Given the description of an element on the screen output the (x, y) to click on. 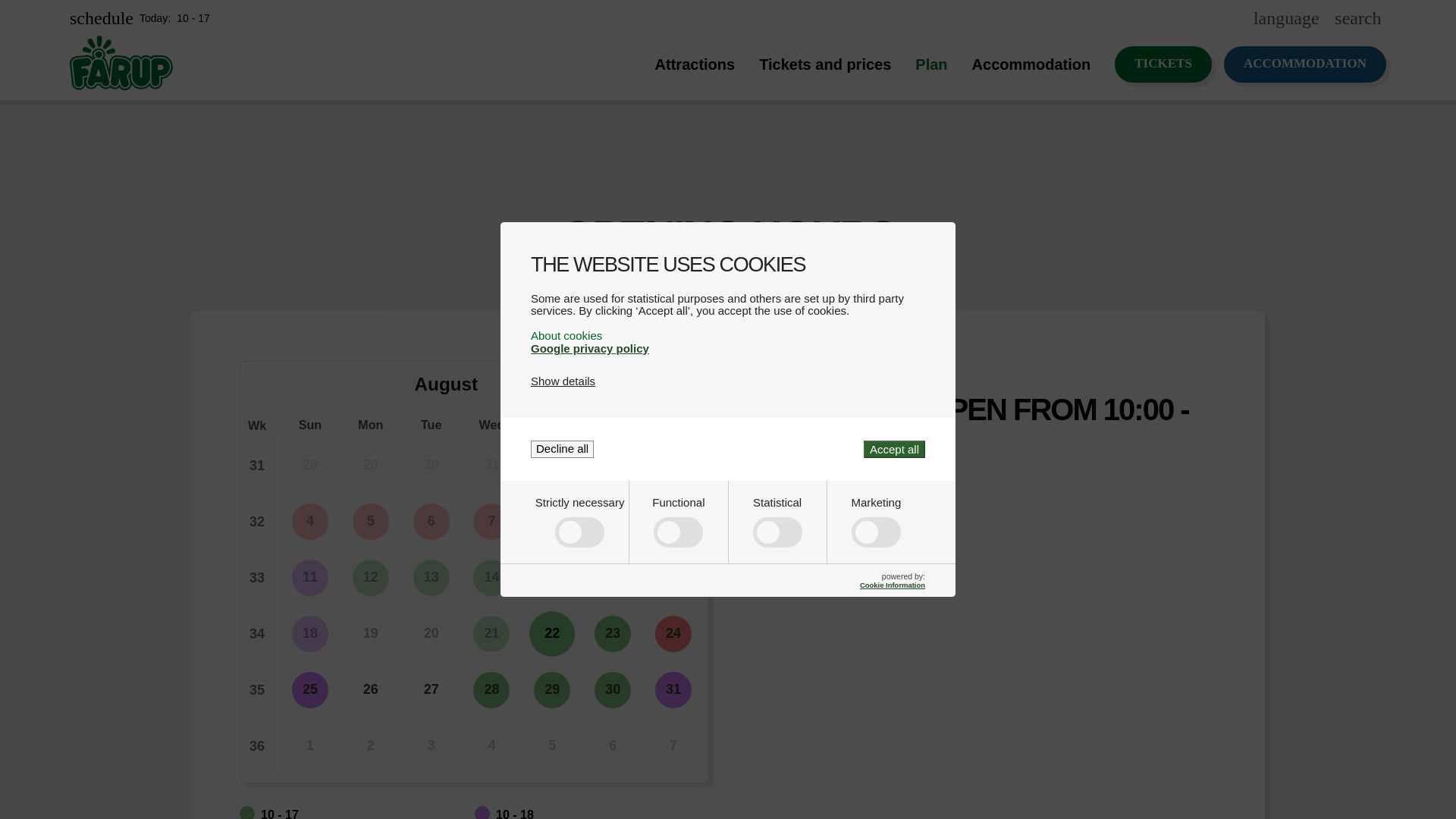
Show details (563, 380)
About cookies (727, 335)
Google privacy policy (590, 348)
